Given the description of an element on the screen output the (x, y) to click on. 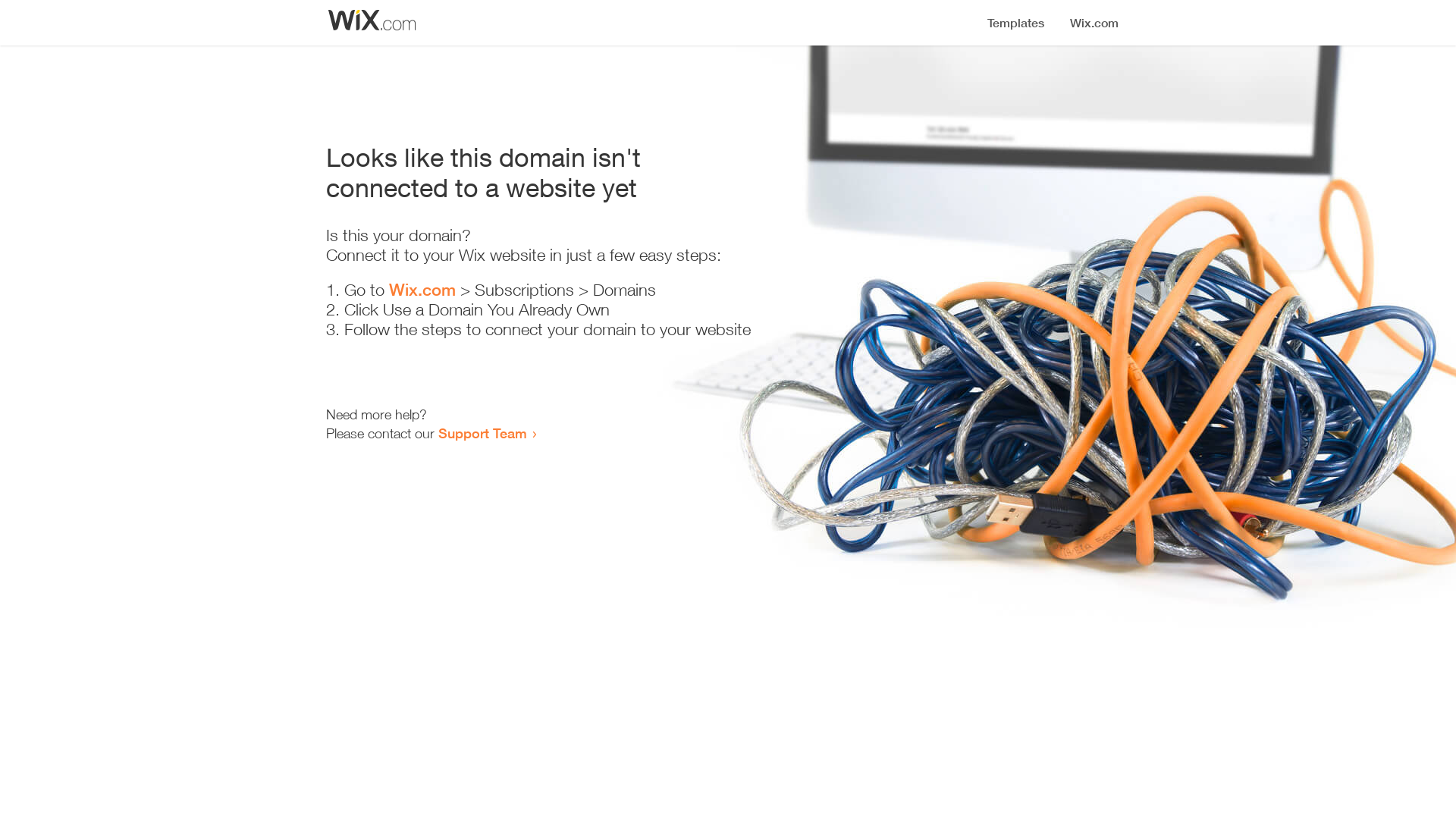
Support Team Element type: text (482, 432)
Wix.com Element type: text (422, 289)
